Given the description of an element on the screen output the (x, y) to click on. 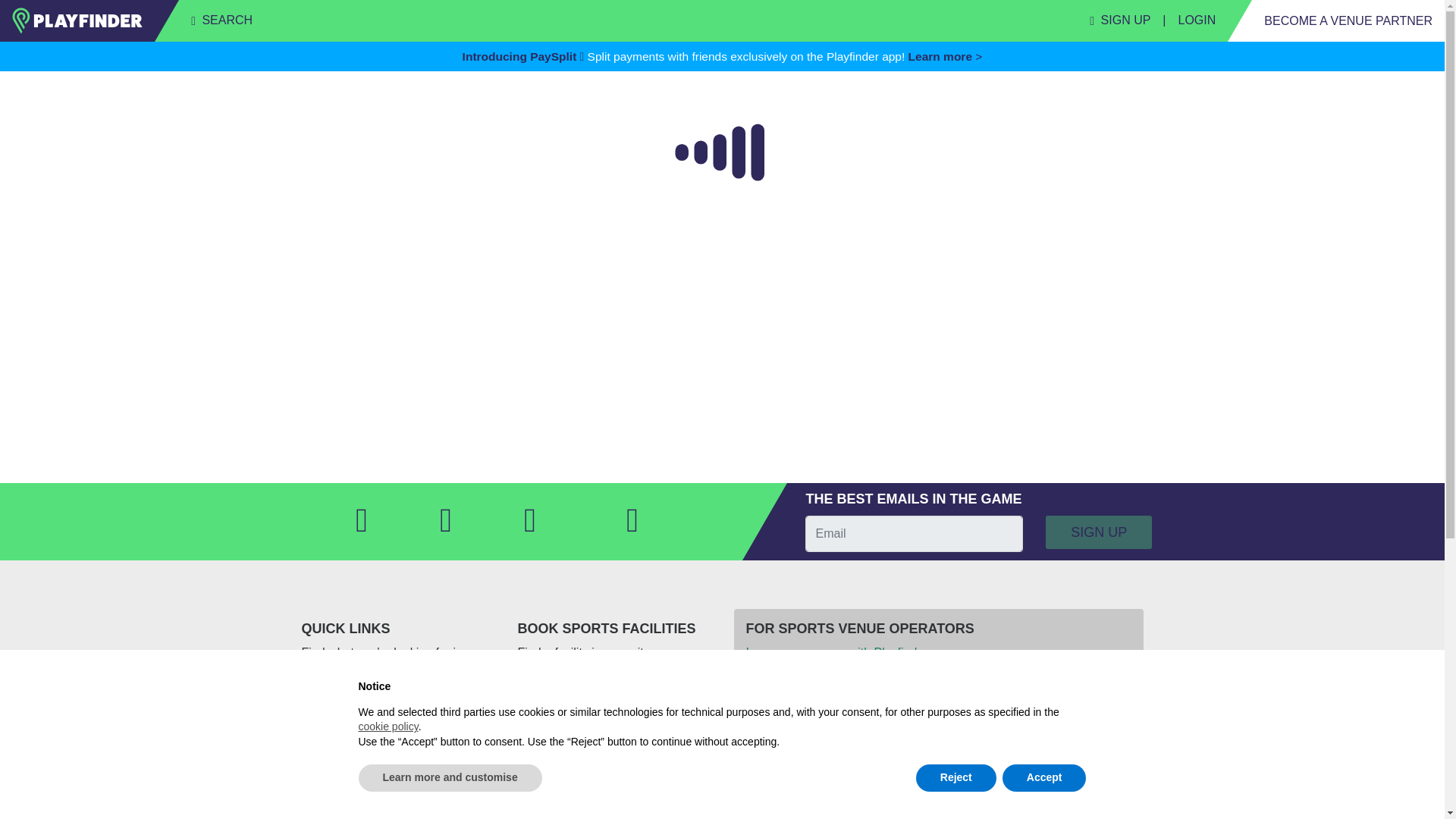
Careers (398, 801)
Dublin (614, 764)
Bradford (614, 728)
App (398, 764)
SEARCH (220, 20)
SIGN UP (1098, 531)
In the press (398, 746)
Birmingham (614, 710)
London (614, 814)
Contact us (398, 814)
Leicester (614, 801)
Brighton (614, 746)
SIGN UP (1119, 20)
Playfinder (398, 710)
Blog (398, 782)
